Given the description of an element on the screen output the (x, y) to click on. 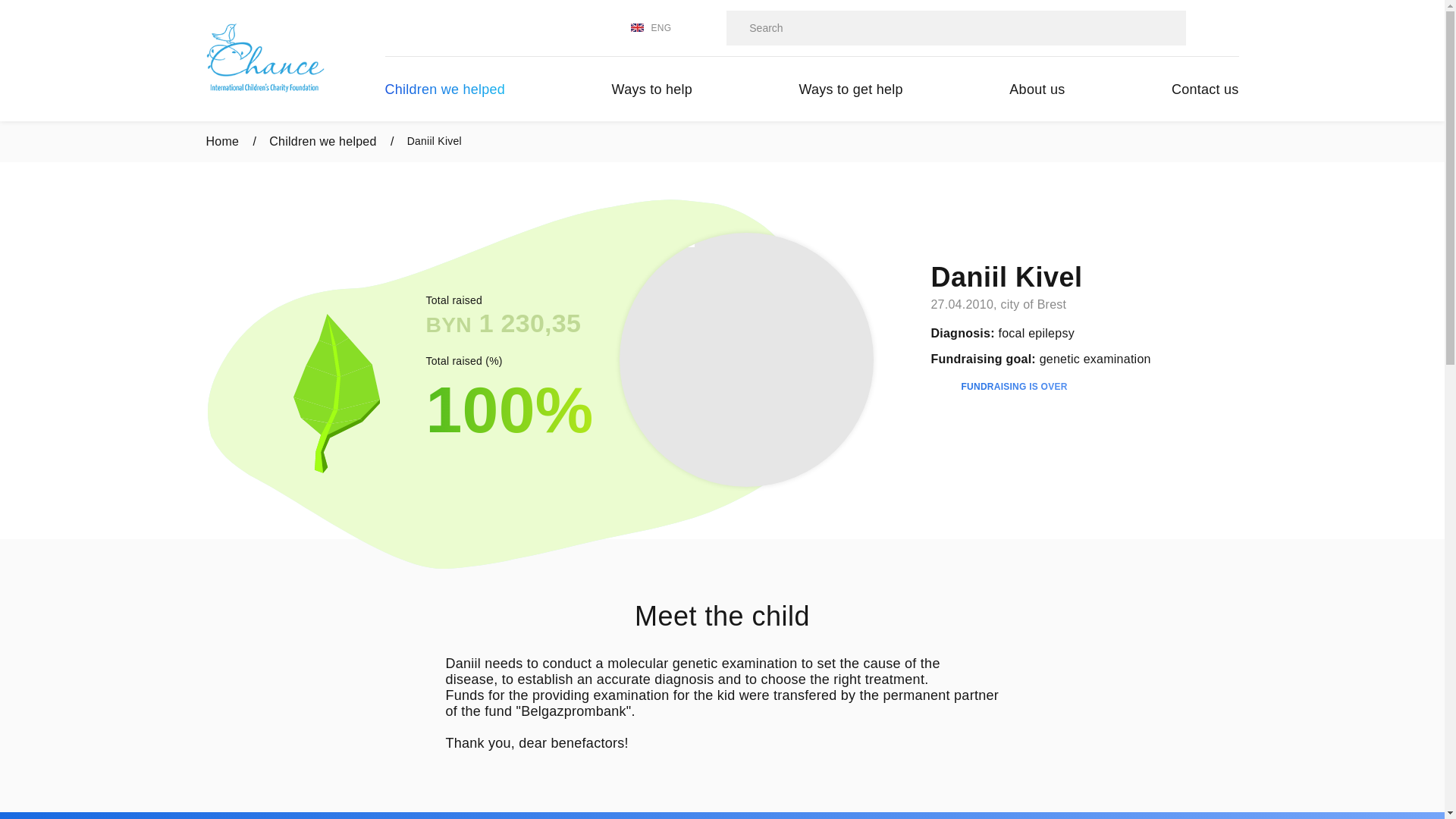
Ways to help Element type: text (651, 89)
Ways to get help Element type: text (850, 89)
About us Element type: text (1036, 89)
Children we helped Element type: text (332, 141)
Home Element type: text (232, 141)
Contact us Element type: text (1205, 89)
Children we helped Element type: text (445, 89)
